Given the description of an element on the screen output the (x, y) to click on. 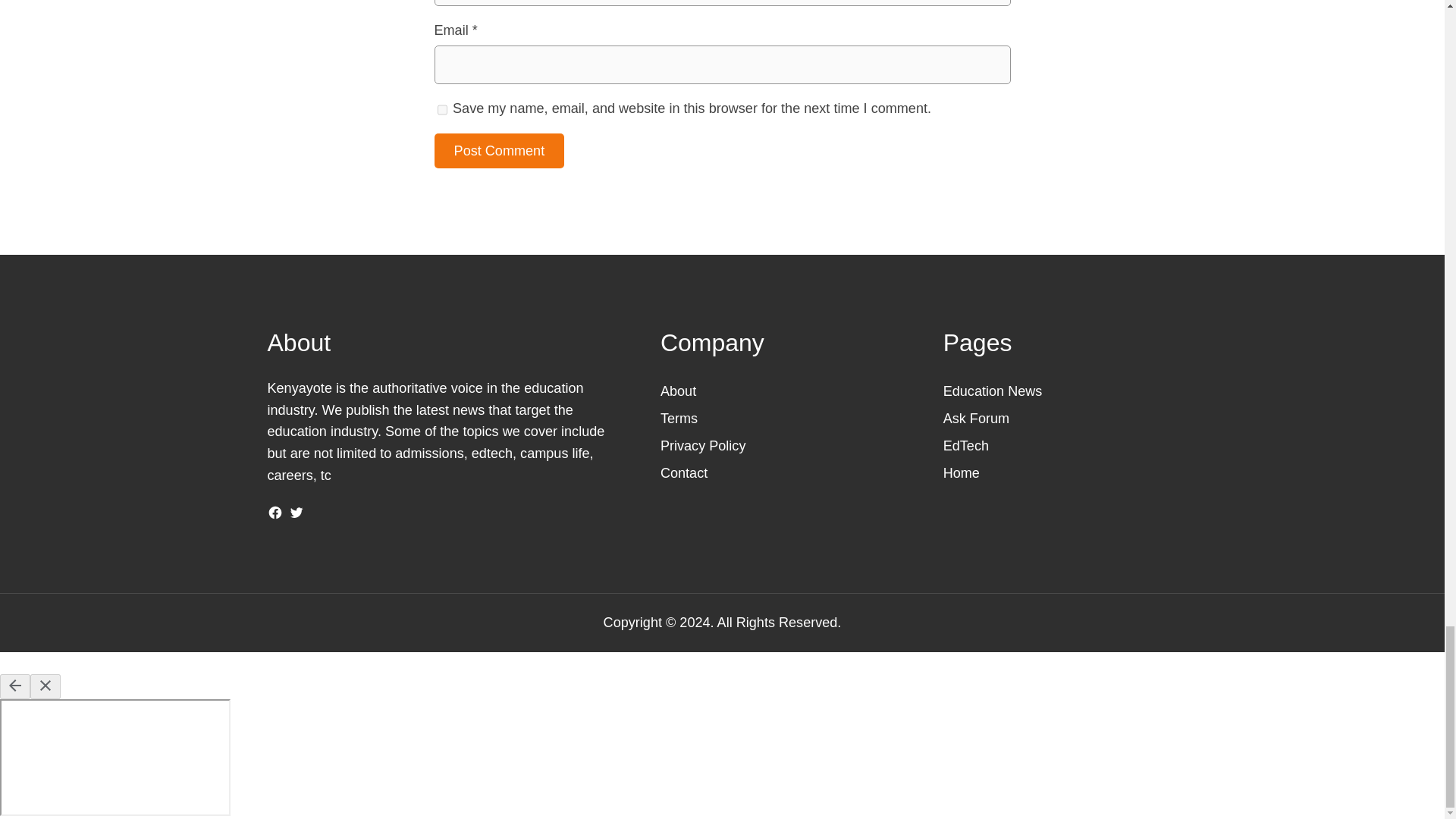
Ask Forum (976, 418)
Education News (992, 391)
About (678, 391)
Facebook (274, 512)
Terms (679, 418)
Post Comment (498, 150)
Contact (684, 473)
Twitter (295, 512)
Post Comment (498, 150)
Privacy Policy (703, 445)
EdTech (965, 445)
Home (961, 473)
